Given the description of an element on the screen output the (x, y) to click on. 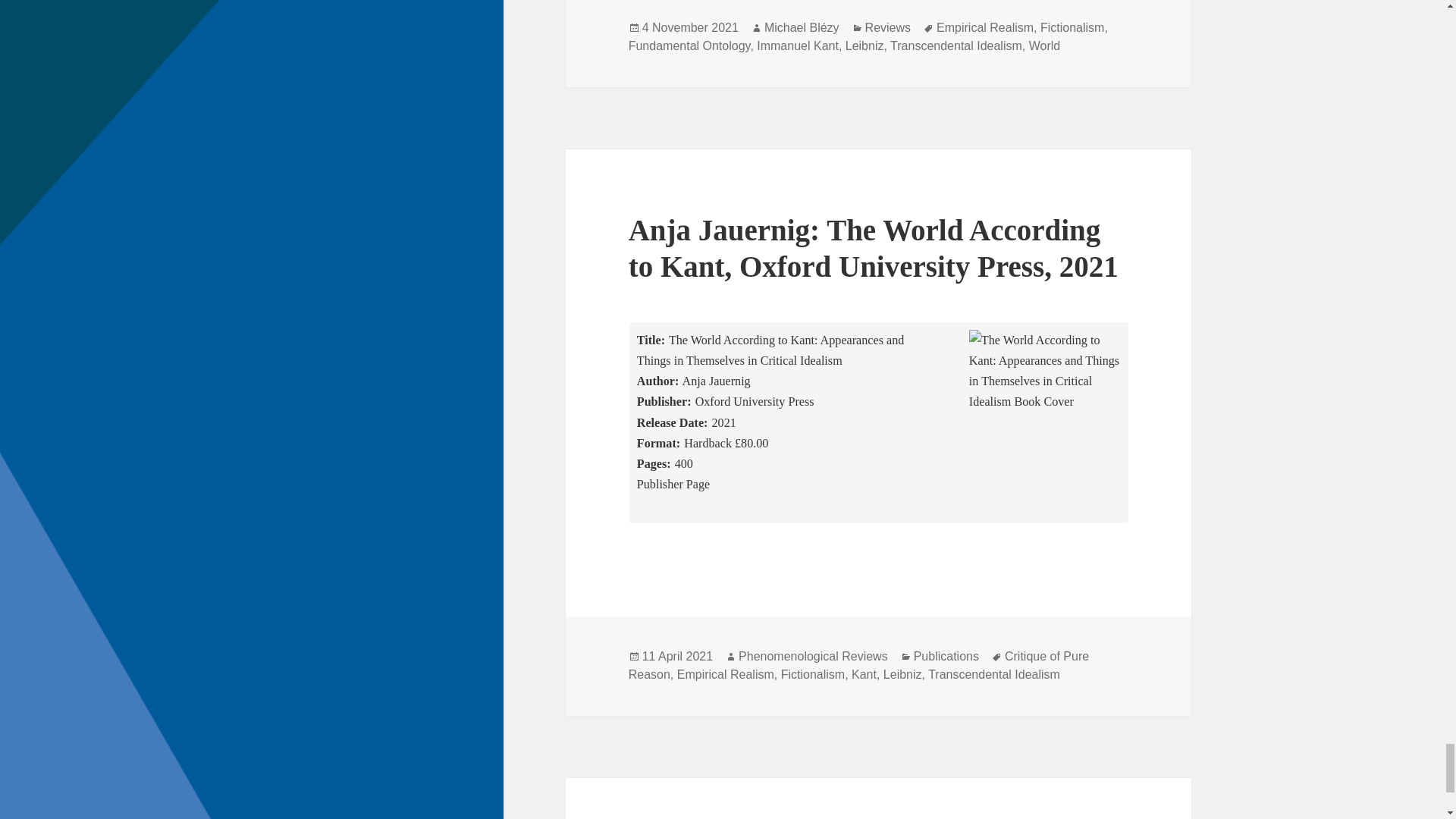
World (1045, 45)
Empirical Realism (984, 27)
11 April 2021 (677, 656)
4 November 2021 (690, 27)
Transcendental Idealism (955, 45)
Publications (946, 656)
Leibniz (864, 45)
Publisher Page (673, 483)
Reviews (887, 27)
Fictionalism (1072, 27)
Immanuel Kant (797, 45)
Fundamental Ontology (689, 45)
Phenomenological Reviews (813, 656)
